Given the description of an element on the screen output the (x, y) to click on. 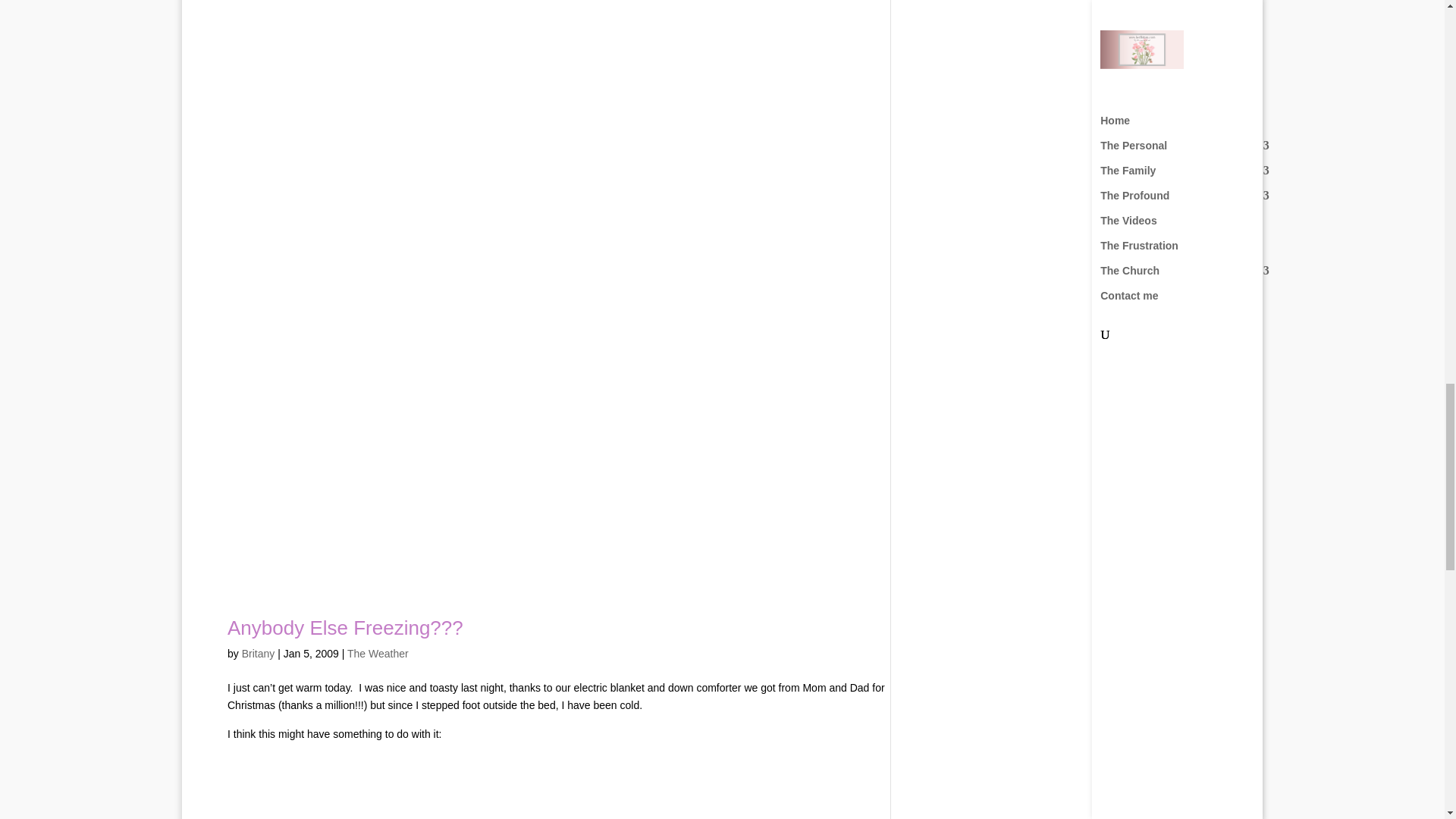
010509 (340, 786)
Posts by Britany (258, 653)
